Given the description of an element on the screen output the (x, y) to click on. 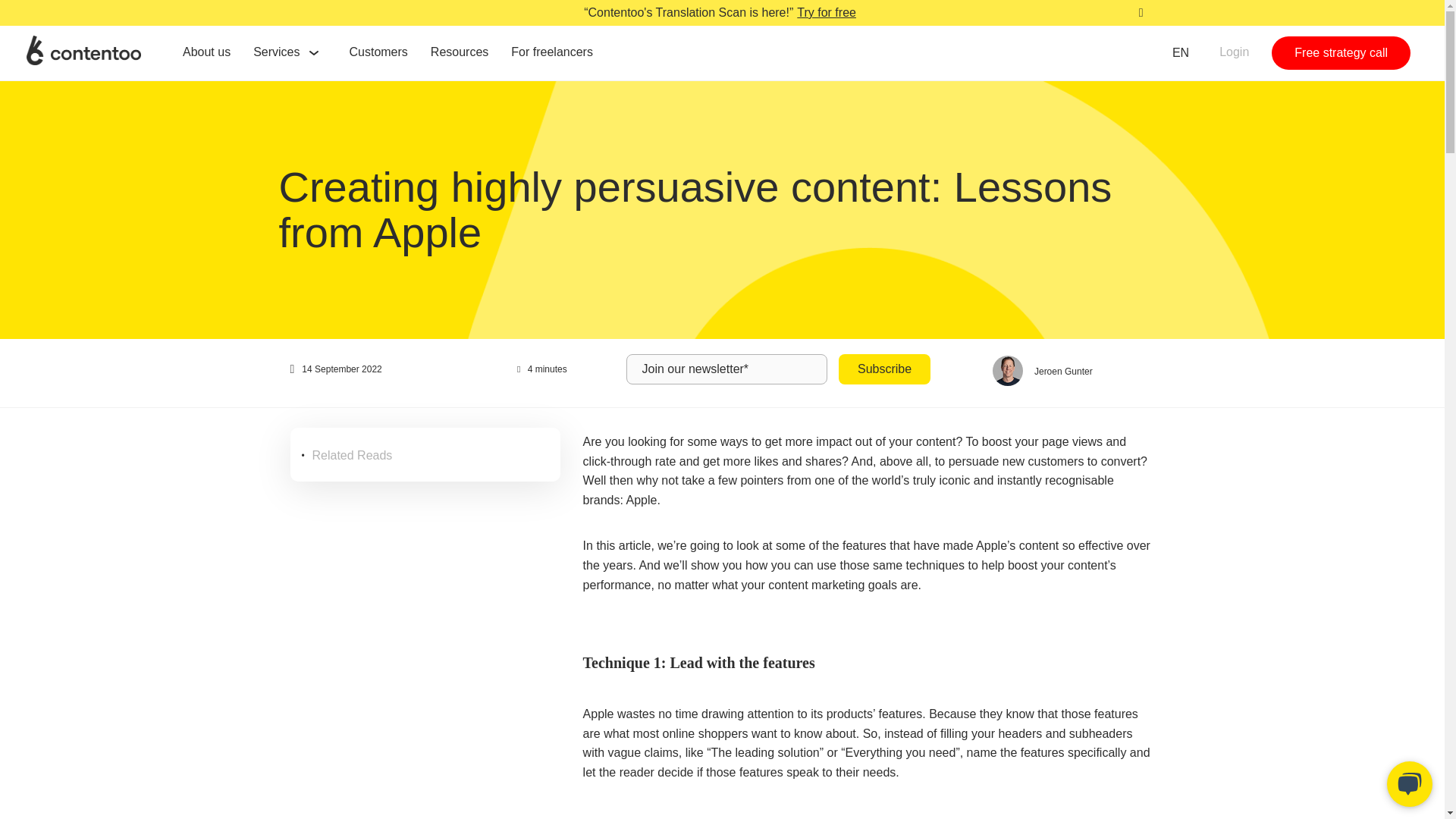
Subscribe (884, 368)
Free strategy call (1340, 52)
Related Reads (353, 455)
Services (280, 52)
Resources (463, 52)
Customers (381, 52)
Subscribe (884, 368)
For freelancers (555, 52)
Try for free (824, 13)
About us (210, 52)
